Given the description of an element on the screen output the (x, y) to click on. 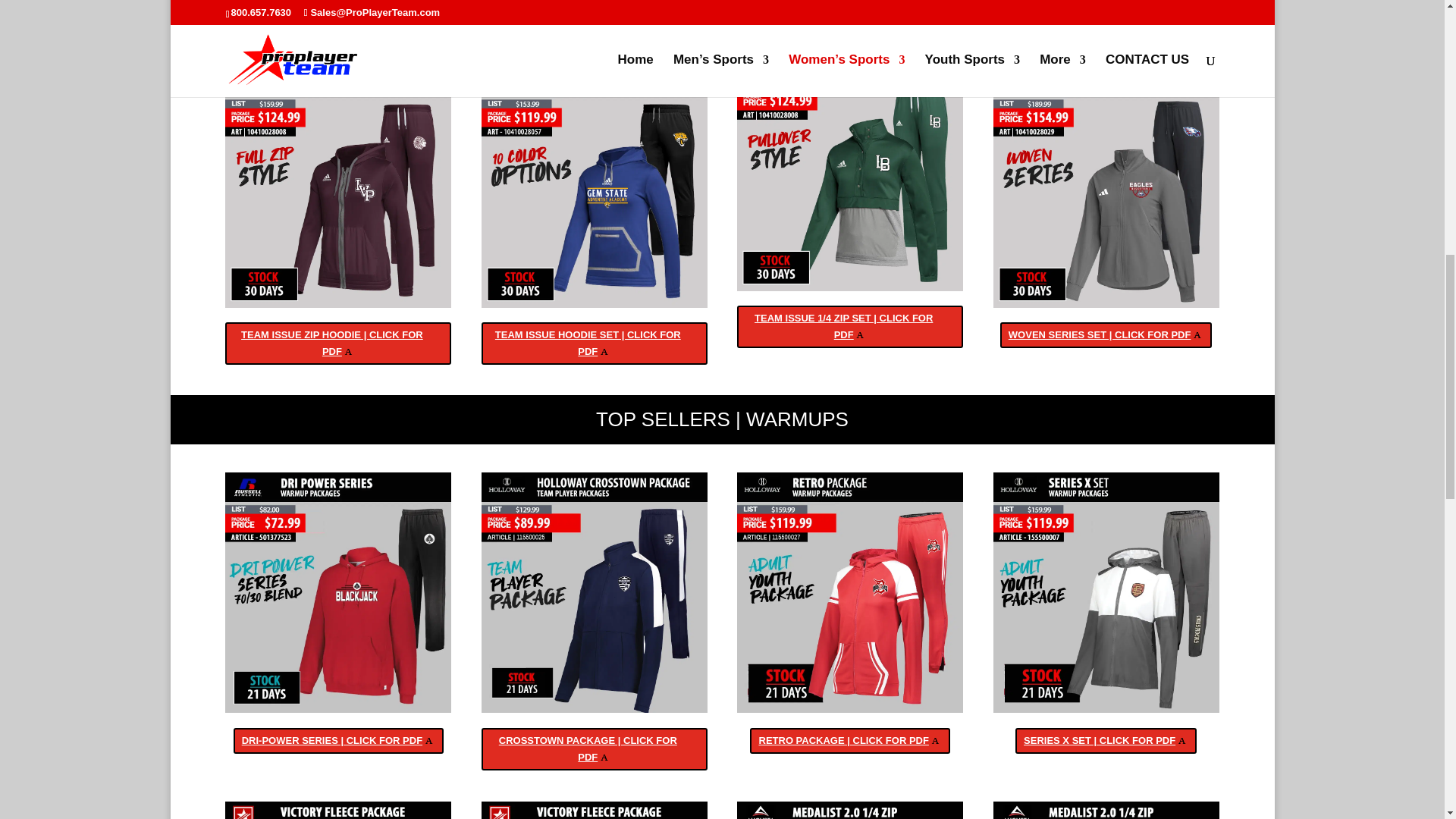
Badger Camo Practice Package (1106, 186)
Badger Camo Practice Package (849, 592)
Badger Camo Practice Package (338, 186)
Badger Camo Practice Package (594, 186)
Badger Camo Practice Package (849, 810)
Badger Camo Practice Package (849, 170)
Badger Camo Practice Package (1106, 592)
Badger Camo Practice Package (594, 810)
Badger Camo Practice Package (594, 592)
